Given the description of an element on the screen output the (x, y) to click on. 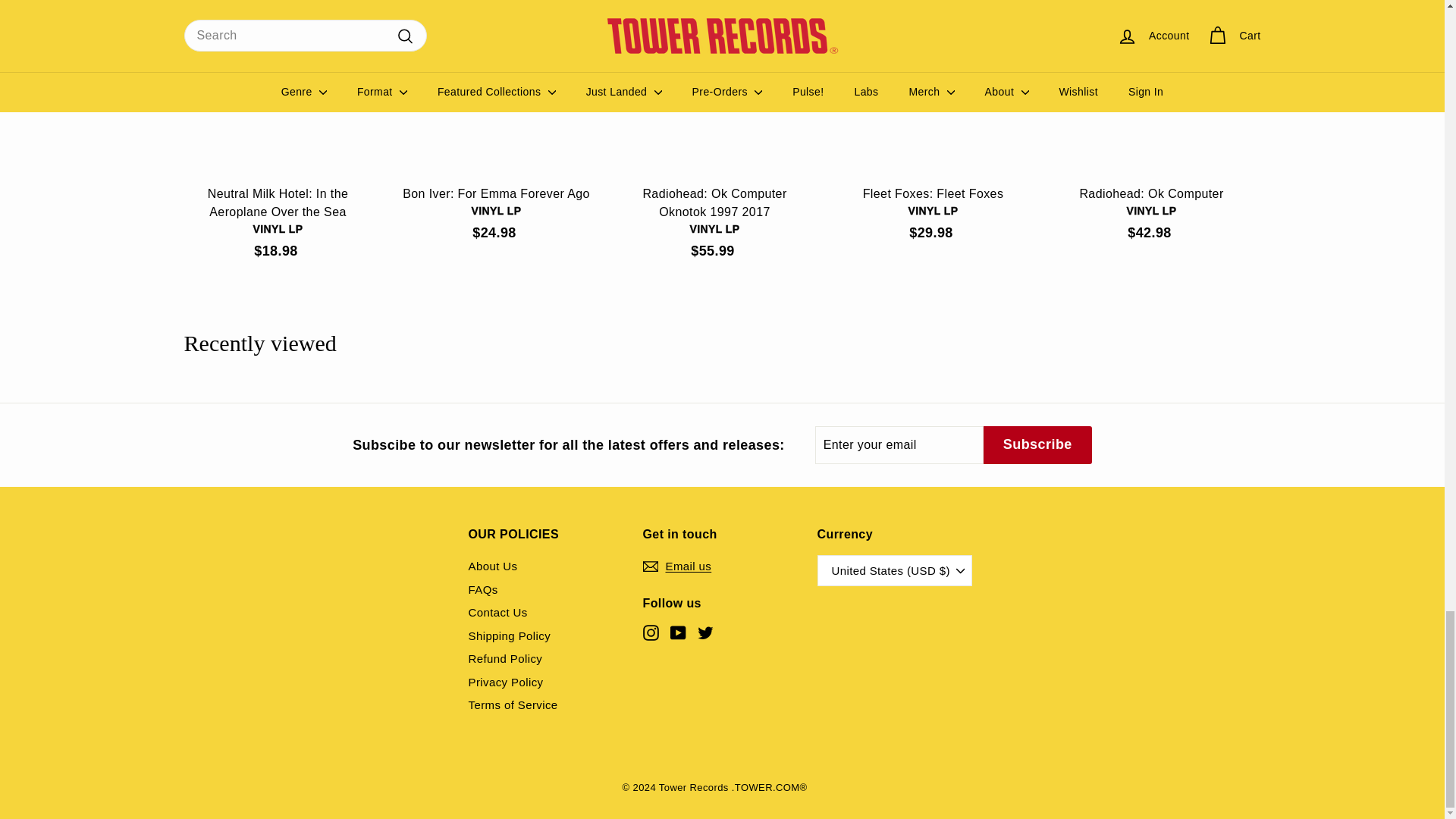
instagram (651, 632)
twitter (705, 632)
Tower Records on YouTube (677, 632)
Tower Records on Instagram (651, 632)
Tower Records on Twitter (705, 632)
